Given the description of an element on the screen output the (x, y) to click on. 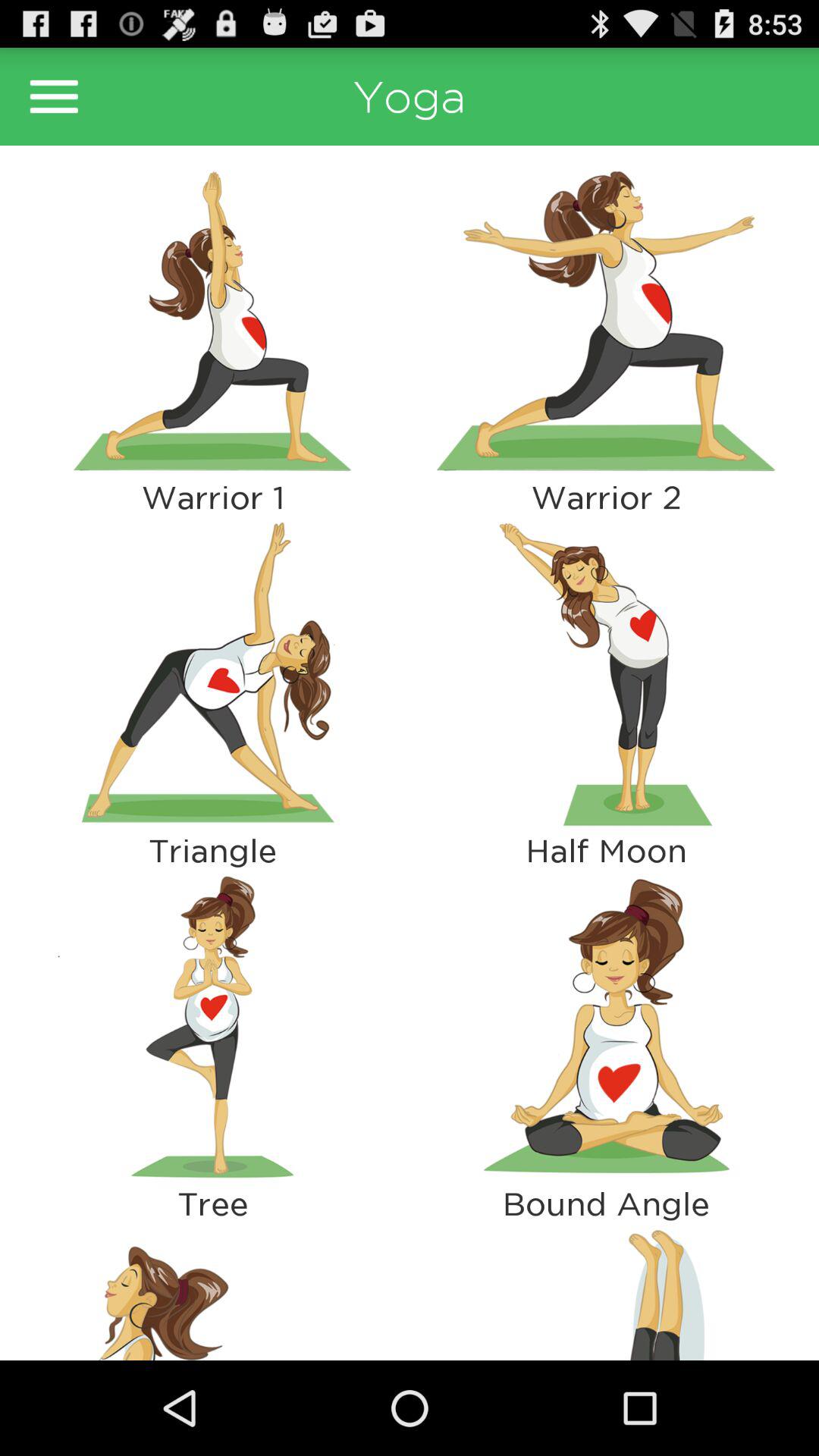
choose the app below tree app (212, 1290)
